Given the description of an element on the screen output the (x, y) to click on. 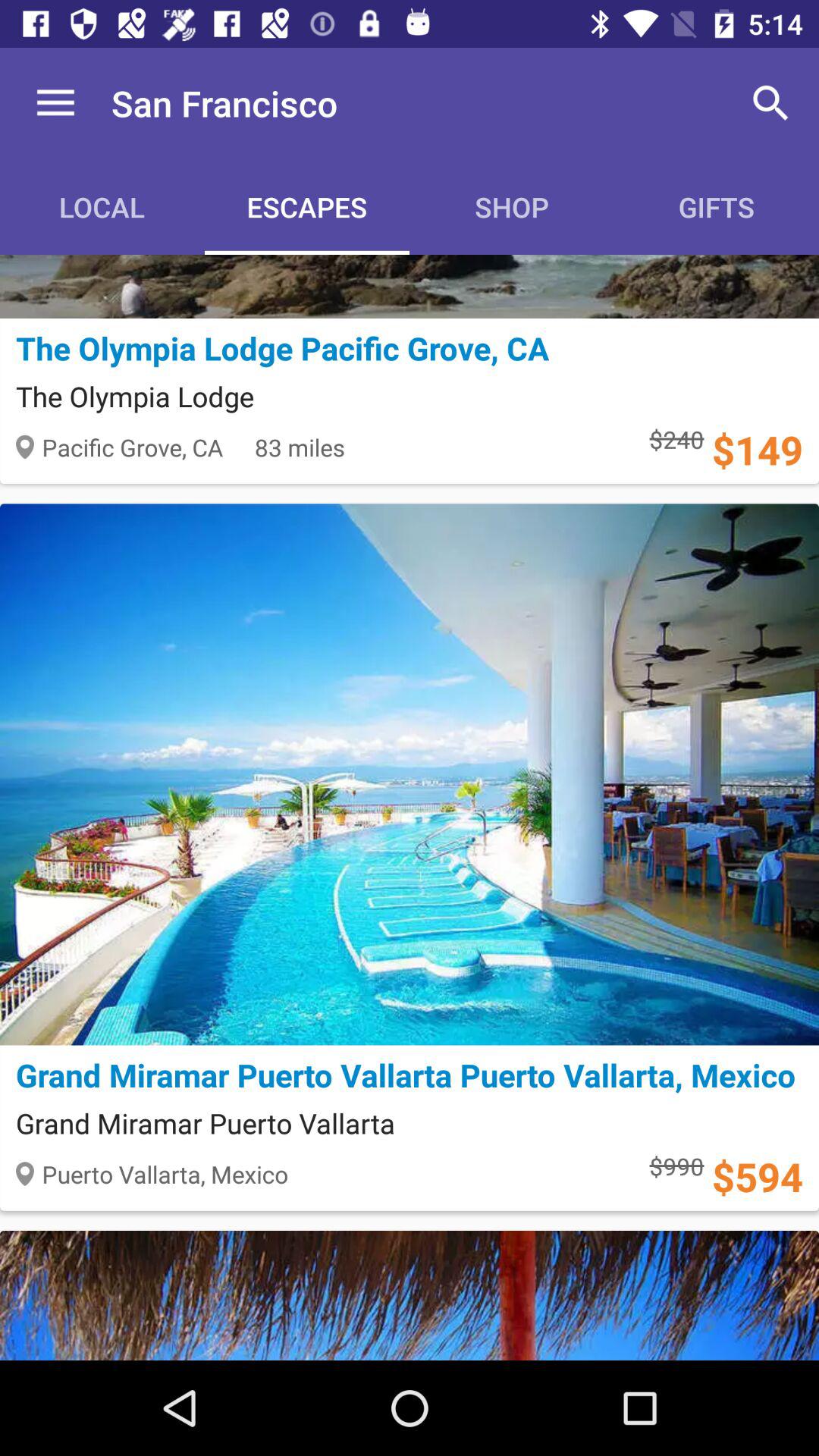
click san francisco icon (224, 103)
